Given the description of an element on the screen output the (x, y) to click on. 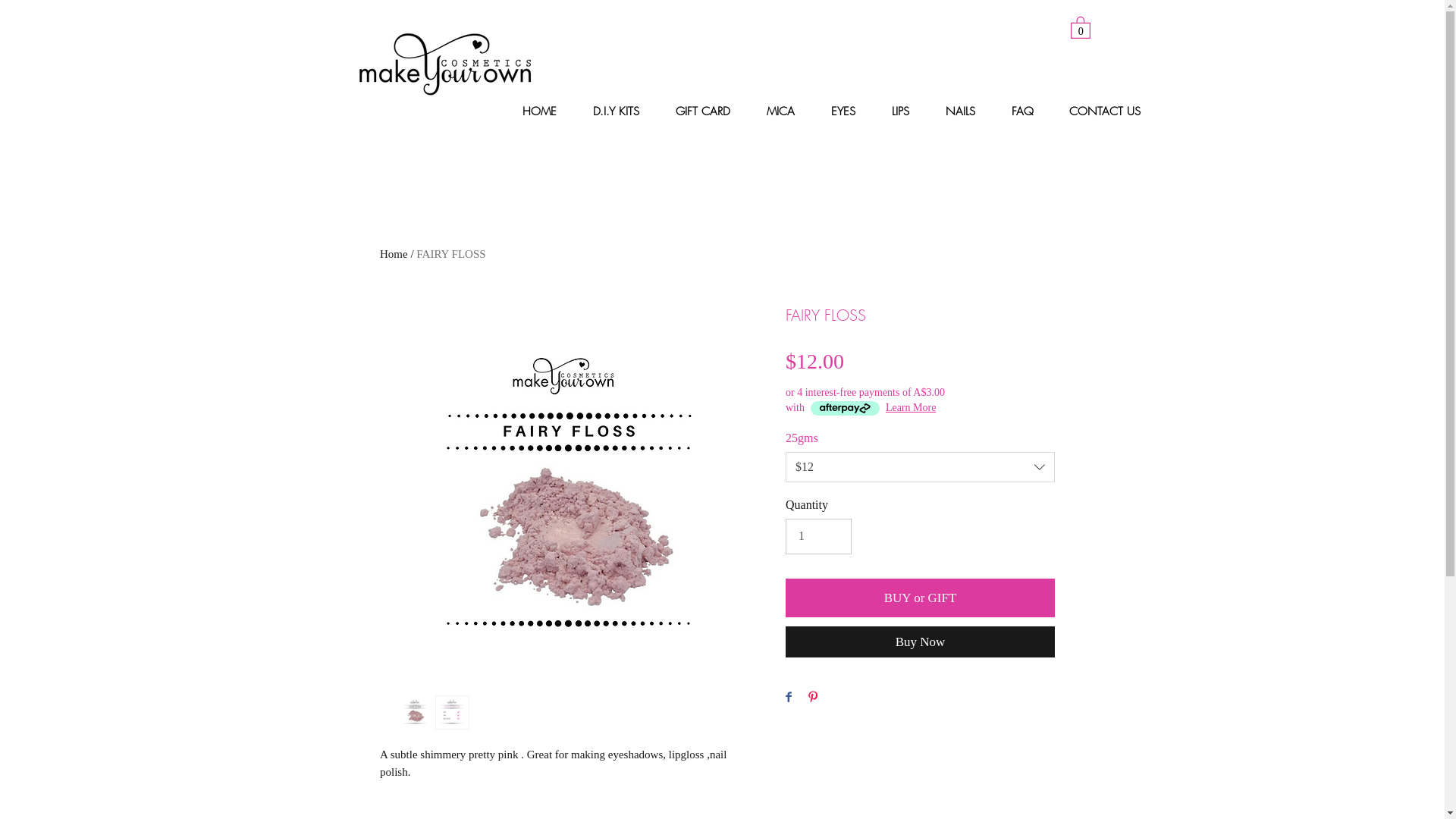
HOME Element type: text (546, 111)
Home Element type: text (393, 253)
FAQ Element type: text (1028, 111)
LIPS Element type: text (906, 111)
Site Search Element type: hover (970, 31)
NAILS Element type: text (967, 111)
EYES Element type: text (849, 111)
FAIRY FLOSS Element type: text (450, 253)
$12 Element type: text (919, 466)
Learn More Element type: text (910, 407)
GIFT CARD Element type: text (709, 111)
CONTACT US Element type: text (1110, 111)
MICA Element type: text (787, 111)
BUY or GIFT Element type: text (919, 598)
0 Element type: text (1080, 26)
Buy Now Element type: text (919, 641)
D.I.Y KITS Element type: text (621, 111)
